Given the description of an element on the screen output the (x, y) to click on. 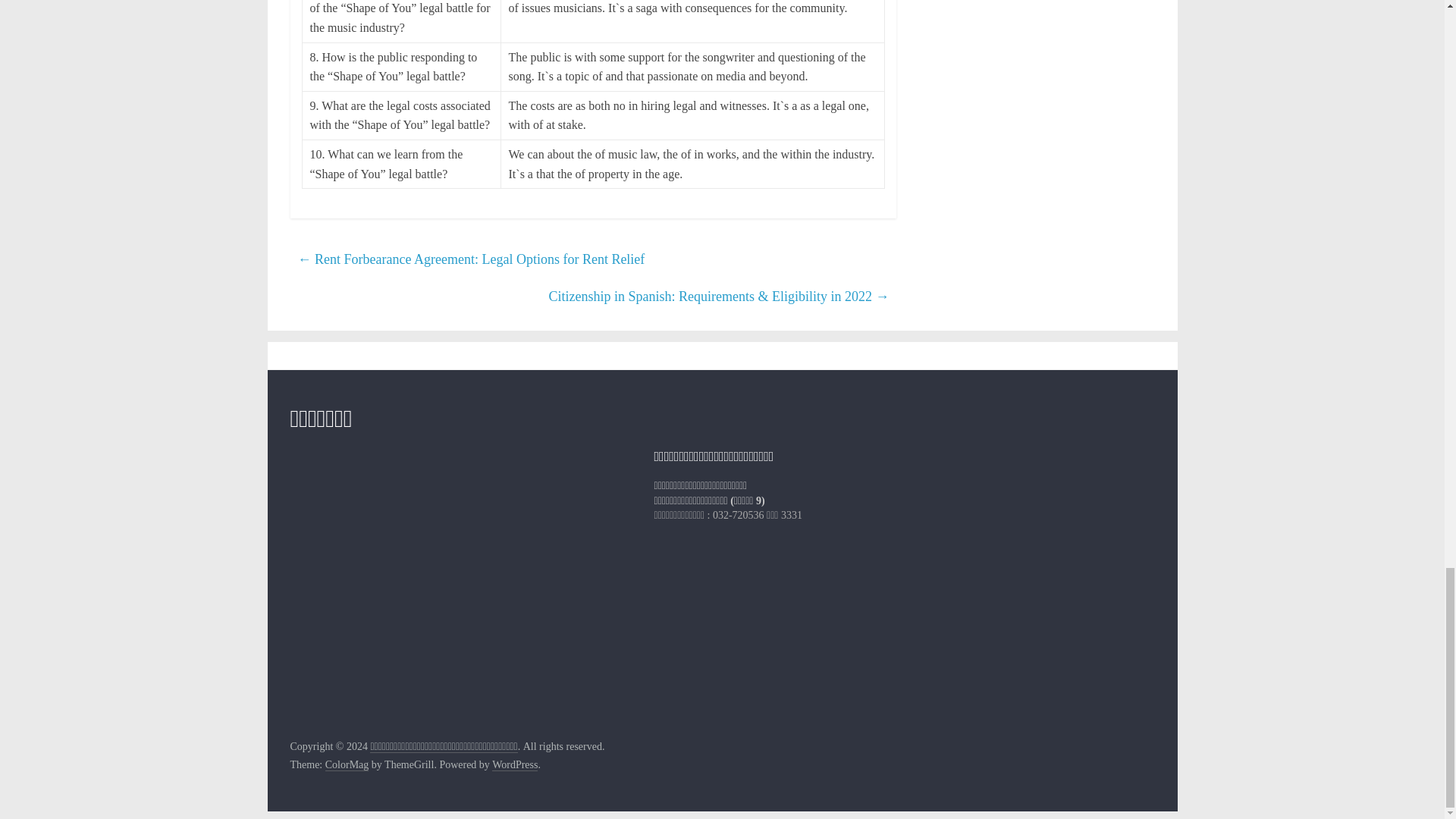
WordPress (514, 765)
WordPress (514, 765)
ColorMag (346, 765)
ColorMag (346, 765)
